Given the description of an element on the screen output the (x, y) to click on. 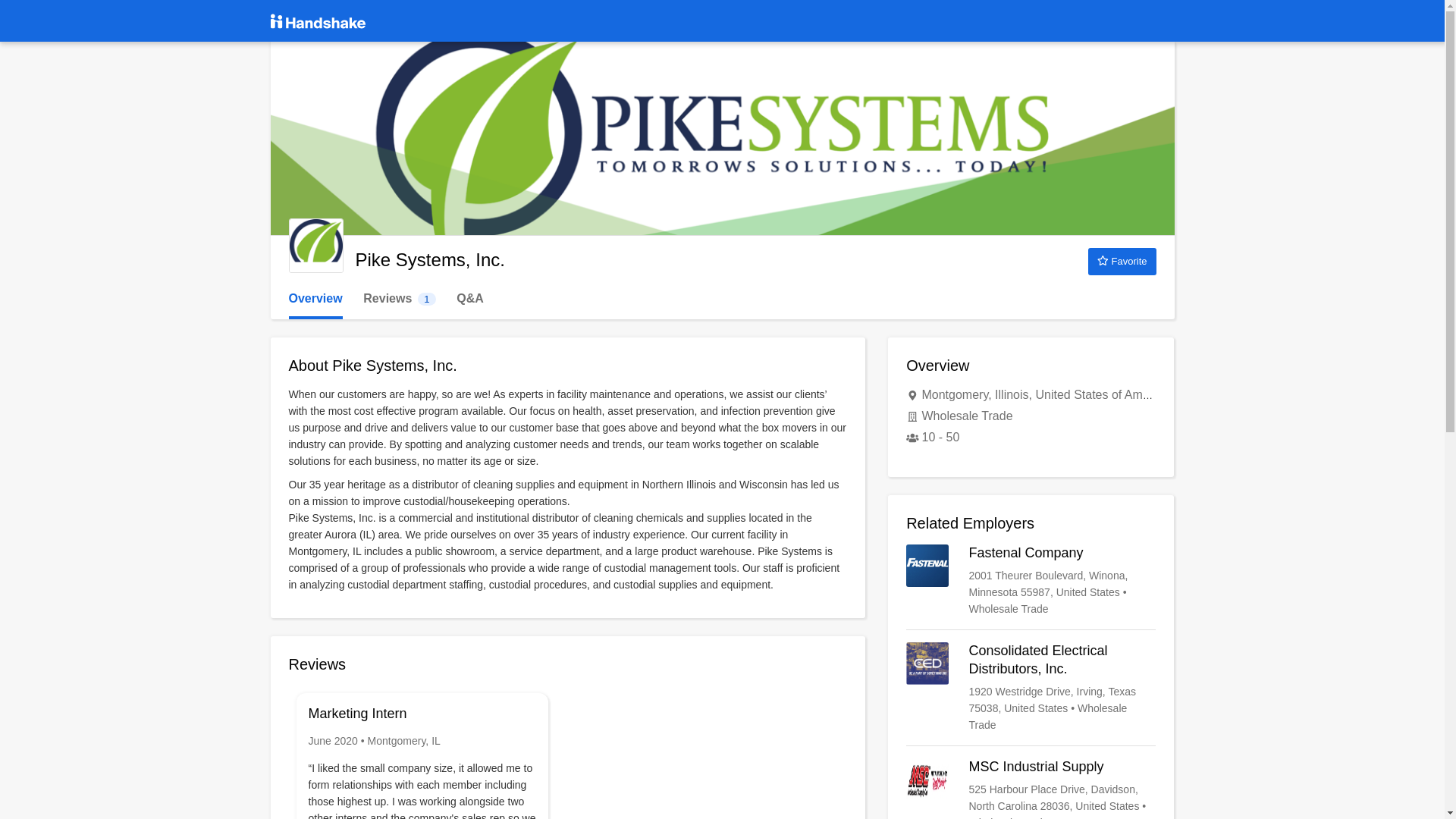
Consolidated Electrical Distributors, Inc. (1030, 687)
Favorite (1121, 261)
MSC Industrial Supply (1030, 788)
Fastenal Company (1030, 580)
Pike Systems, Inc. (398, 298)
Overview (315, 245)
